Given the description of an element on the screen output the (x, y) to click on. 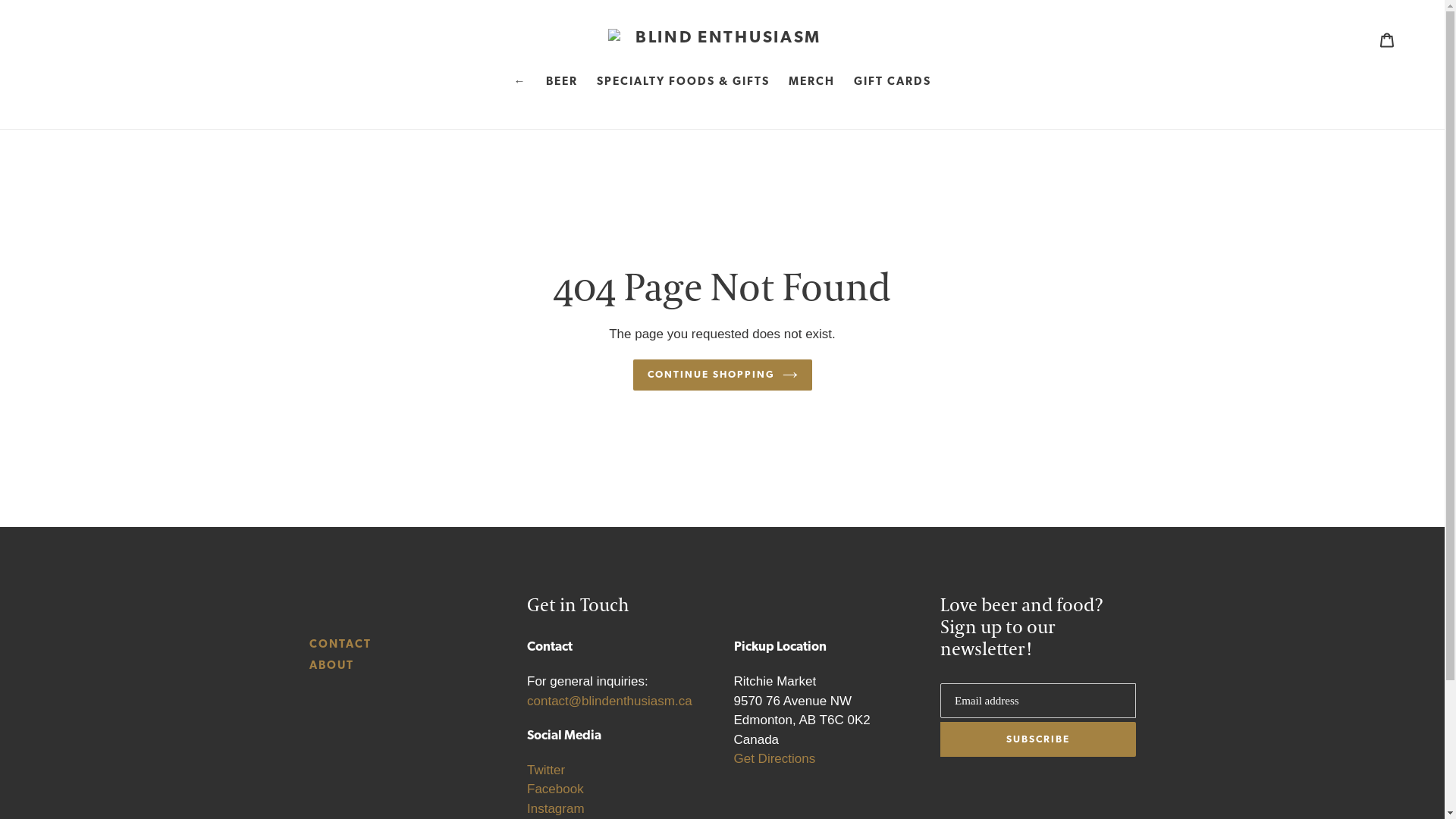
contact@blindenthusiasm.ca Element type: text (609, 700)
CONTACT Element type: text (340, 644)
Twitter Element type: text (545, 769)
Cart Element type: text (1386, 38)
SPECIALTY FOODS & GIFTS Element type: text (682, 84)
Facebook Element type: text (555, 788)
SUBSCRIBE Element type: text (1037, 738)
CONTINUE SHOPPING Element type: text (721, 375)
GIFT CARDS Element type: text (892, 84)
ABOUT Element type: text (331, 665)
Instagram Element type: text (555, 808)
BEER Element type: text (561, 84)
MERCH Element type: text (811, 84)
Get Directions Element type: text (774, 758)
